Given the description of an element on the screen output the (x, y) to click on. 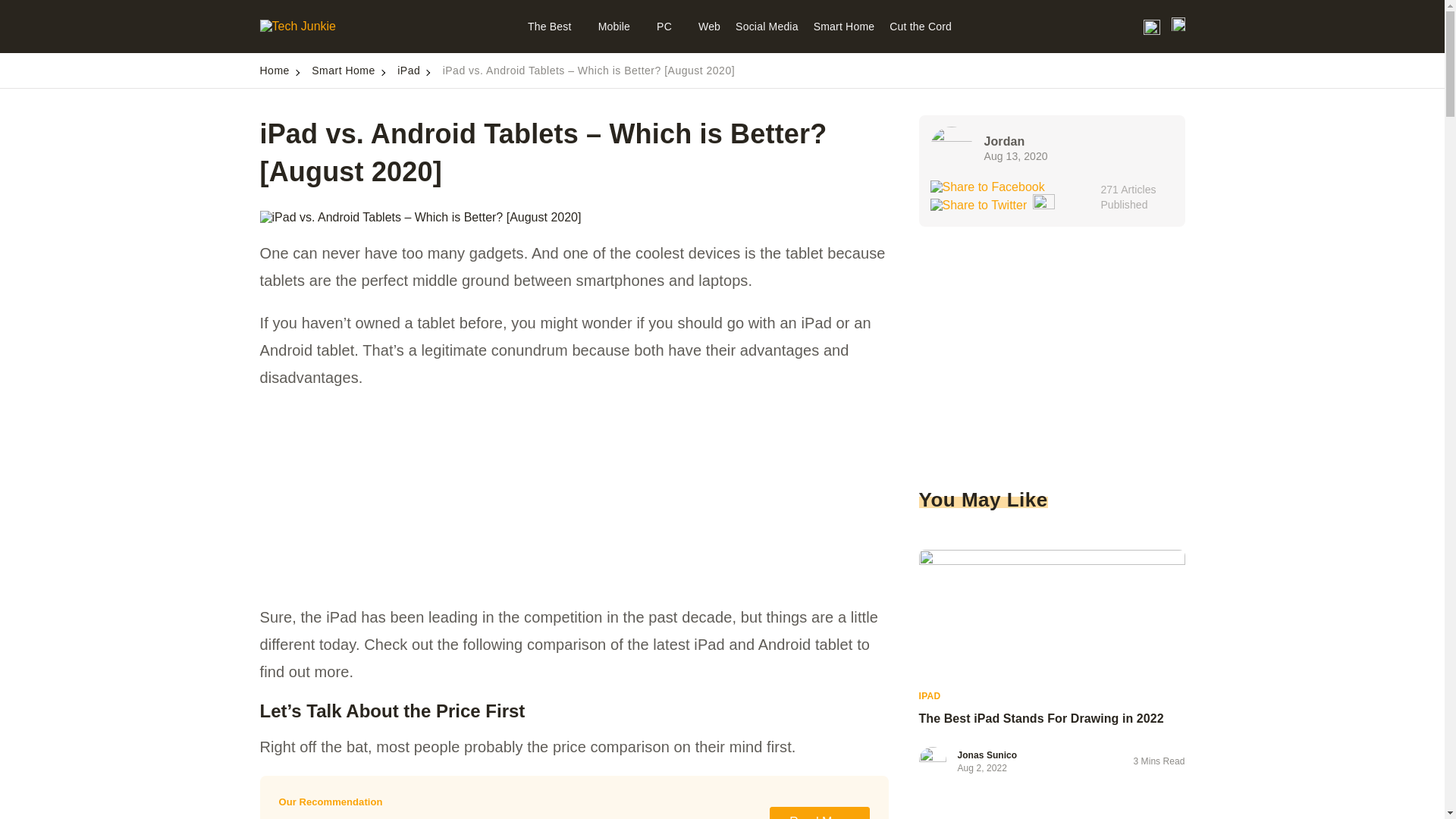
Cut the Cord (920, 26)
Share to Facebook (986, 187)
Tech Junkie (297, 25)
Social Media (766, 26)
Share to Twitter (978, 205)
Smart Home (844, 26)
The Best (555, 26)
